Given the description of an element on the screen output the (x, y) to click on. 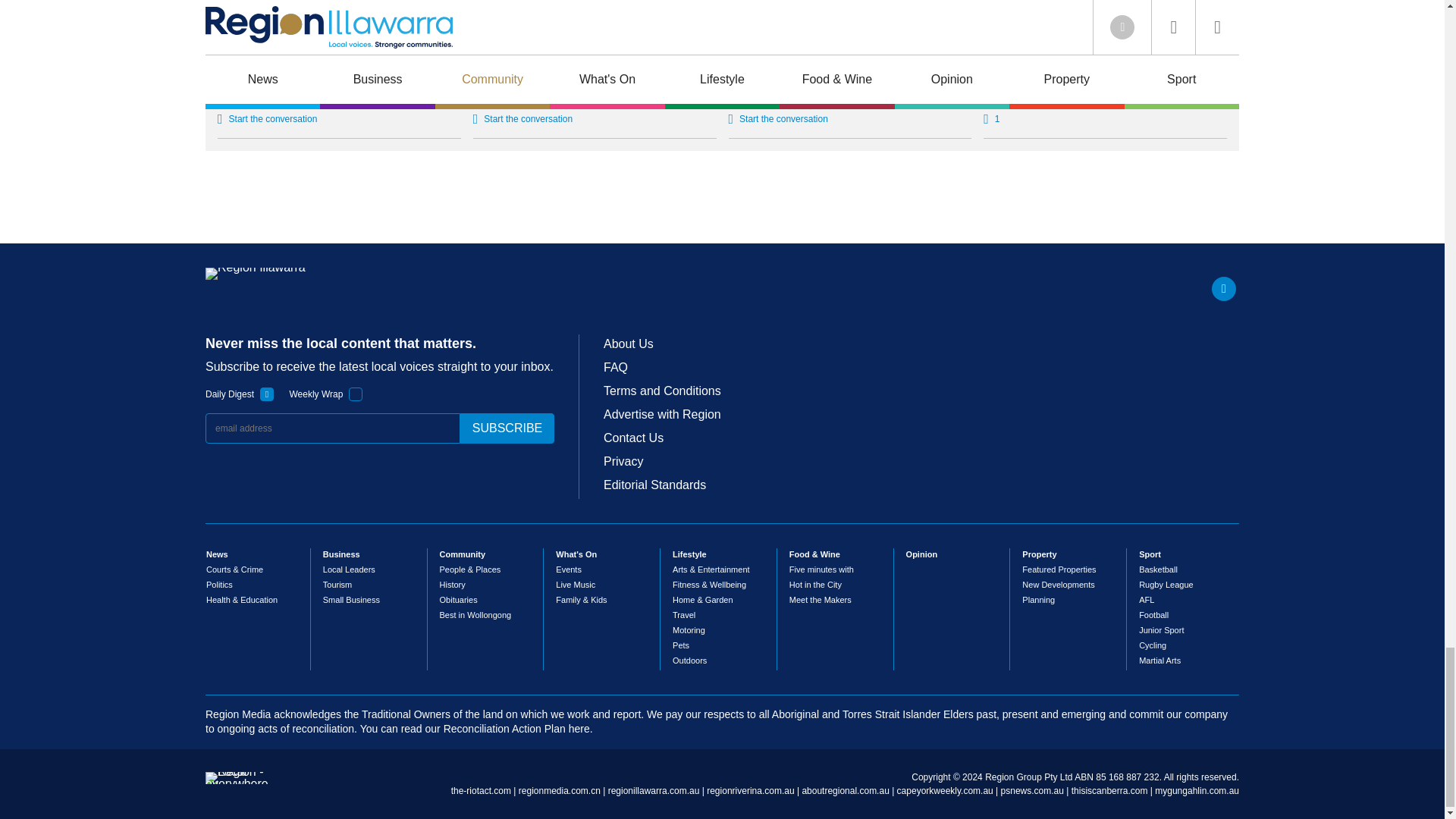
Facebook (1223, 288)
1 (355, 394)
Region - Local everywhere (236, 784)
1 (266, 394)
subscribe (507, 428)
